Given the description of an element on the screen output the (x, y) to click on. 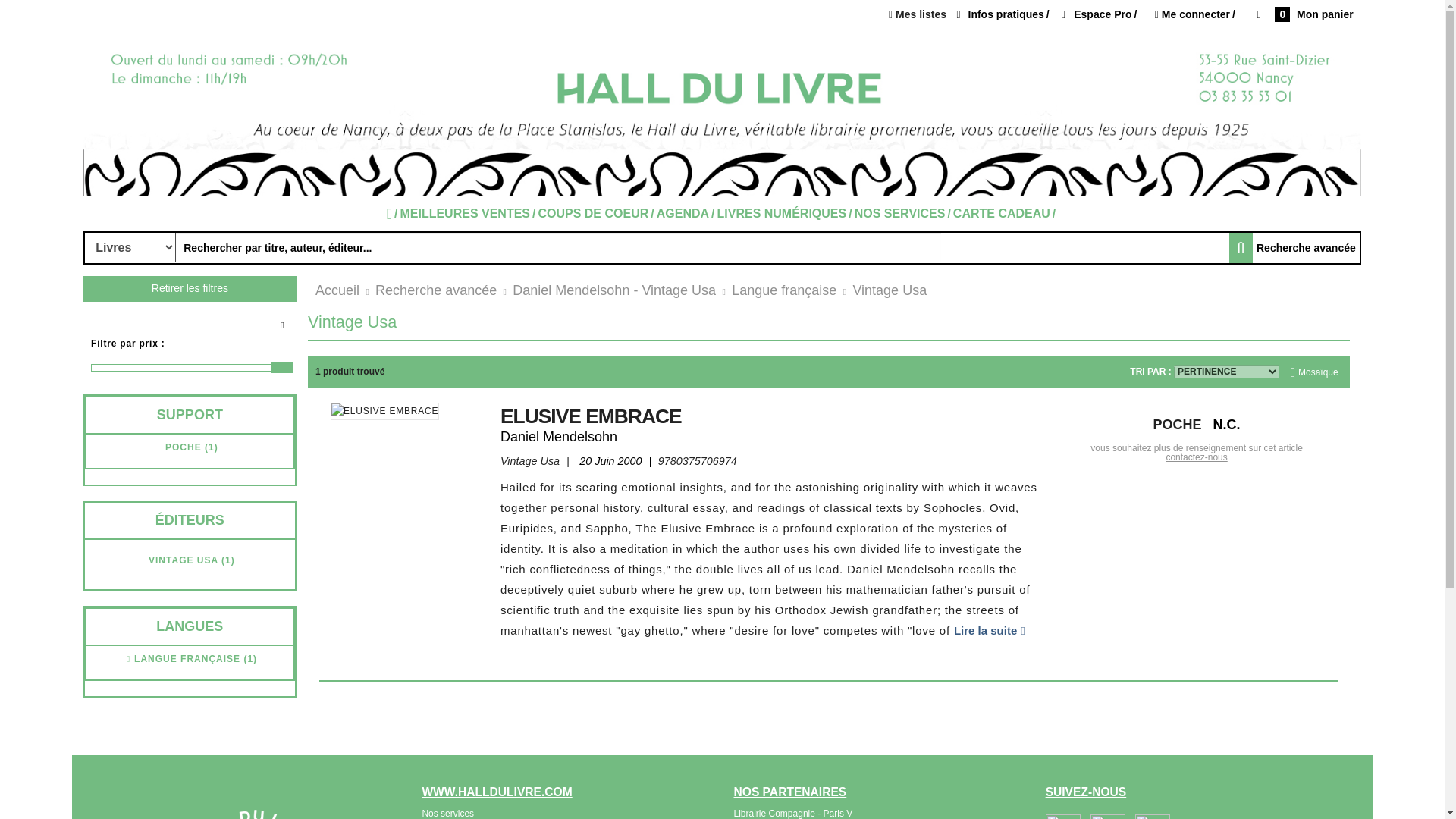
Rechercher (130, 247)
CARTE CADEAU (1005, 214)
Trier par (1226, 371)
0 Mon panier (1304, 15)
Infos pratiques (1003, 14)
Espace Pro (1100, 14)
Mes listes (917, 14)
COUPS DE COEUR (596, 214)
Daniel Mendelsohn (558, 436)
AGENDA (686, 214)
